Given the description of an element on the screen output the (x, y) to click on. 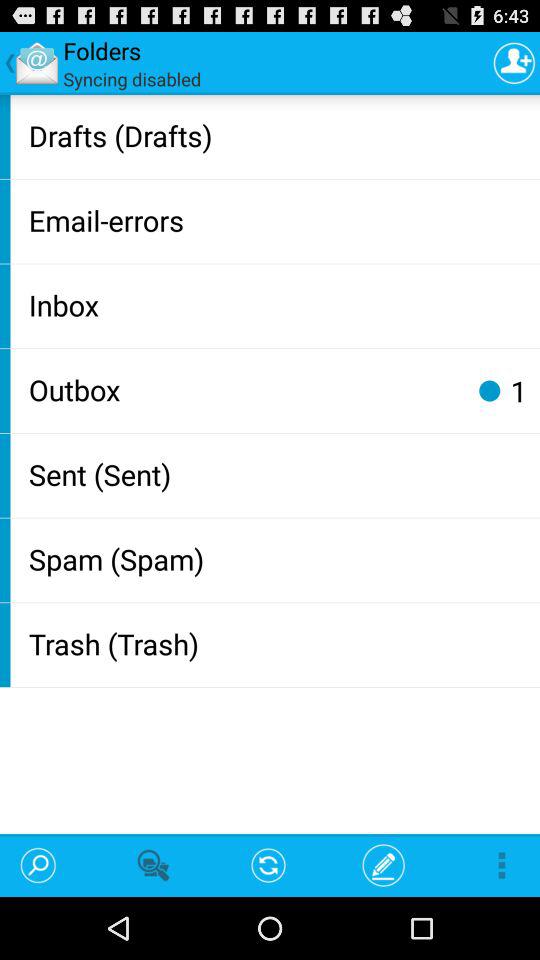
choose app next to syncing disabled item (514, 62)
